Given the description of an element on the screen output the (x, y) to click on. 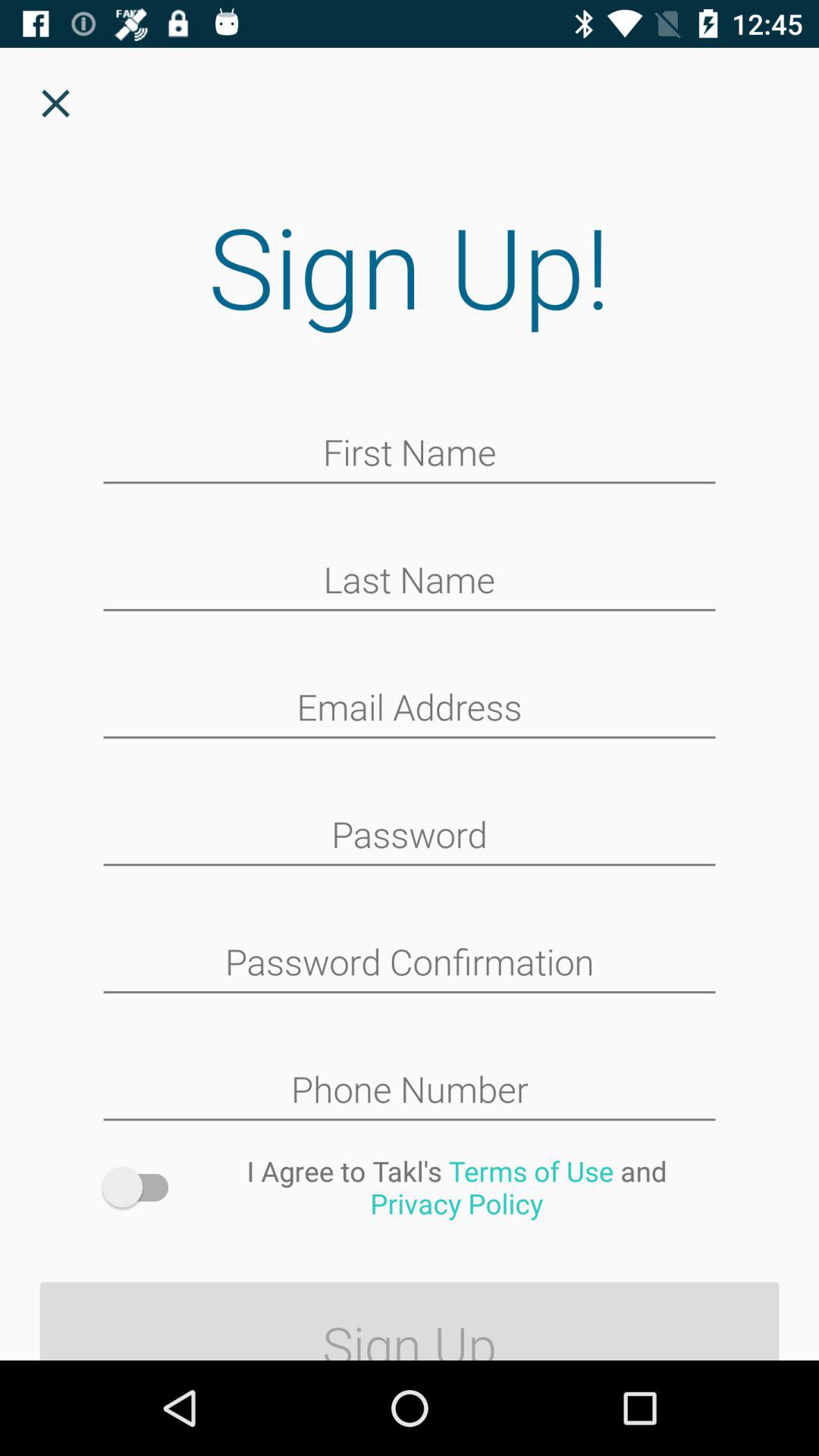
enter your phone number (409, 1091)
